Given the description of an element on the screen output the (x, y) to click on. 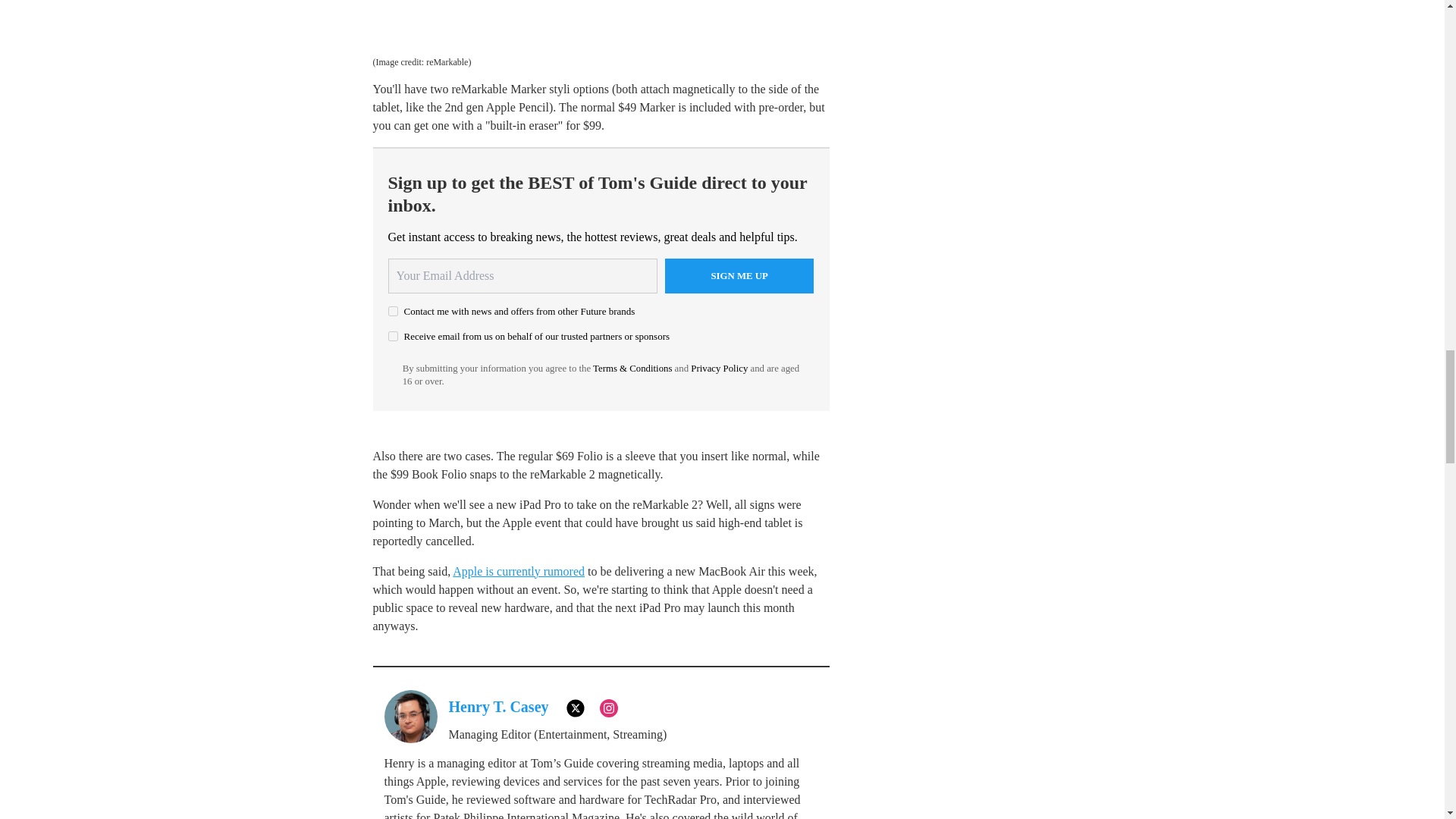
Sign me up (739, 275)
on (392, 336)
on (392, 311)
